Given the description of an element on the screen output the (x, y) to click on. 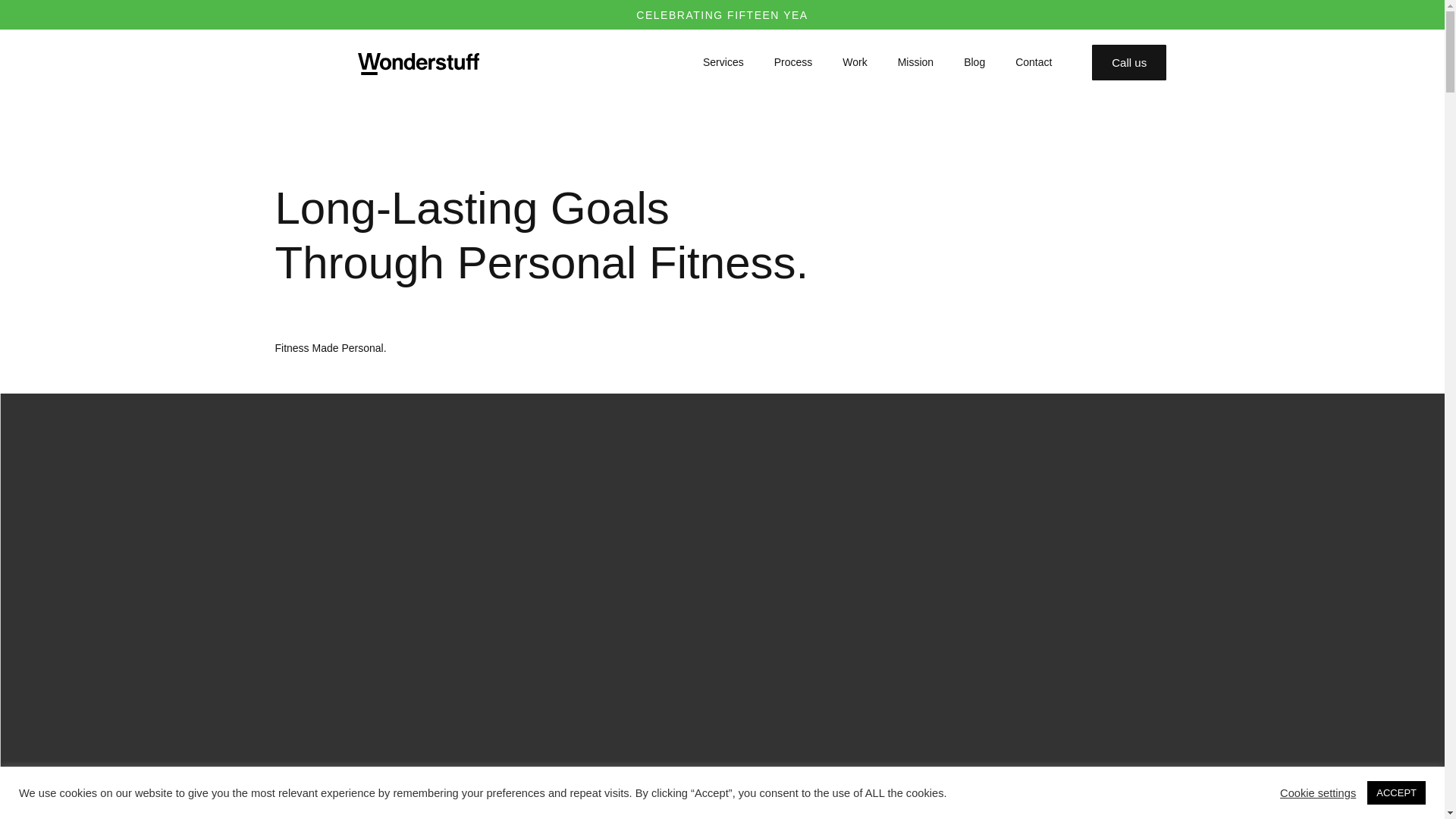
Work (854, 62)
Blog (974, 62)
Call us (1129, 62)
Mission (915, 62)
Services (722, 62)
Process (793, 62)
Cookie settings (1317, 792)
ACCEPT (1396, 792)
Contact (1033, 62)
